Given the description of an element on the screen output the (x, y) to click on. 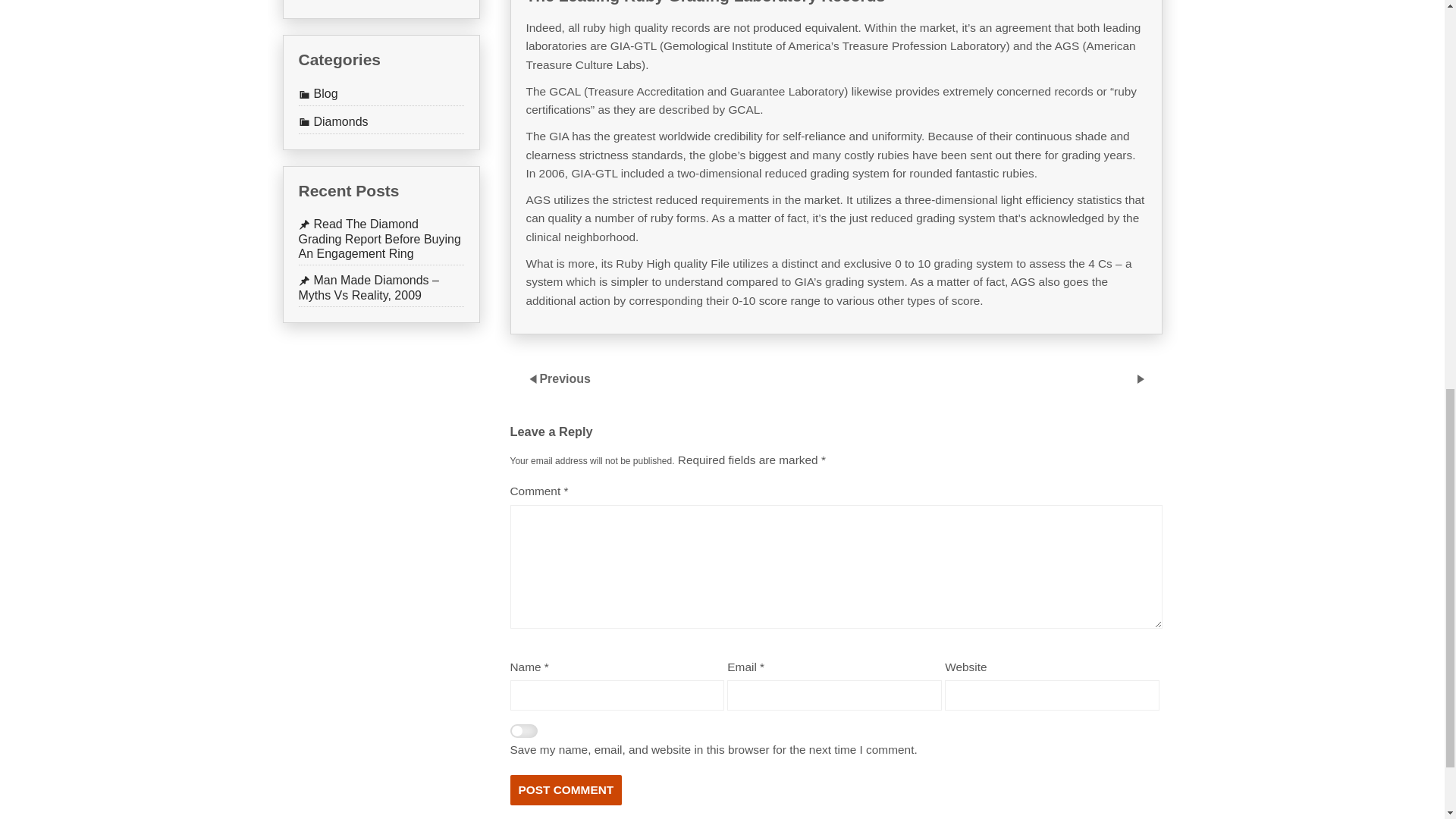
yes (523, 732)
Blog (317, 93)
Previous (564, 377)
Post Comment (565, 789)
Post Comment (565, 789)
Diamonds (333, 121)
